Given the description of an element on the screen output the (x, y) to click on. 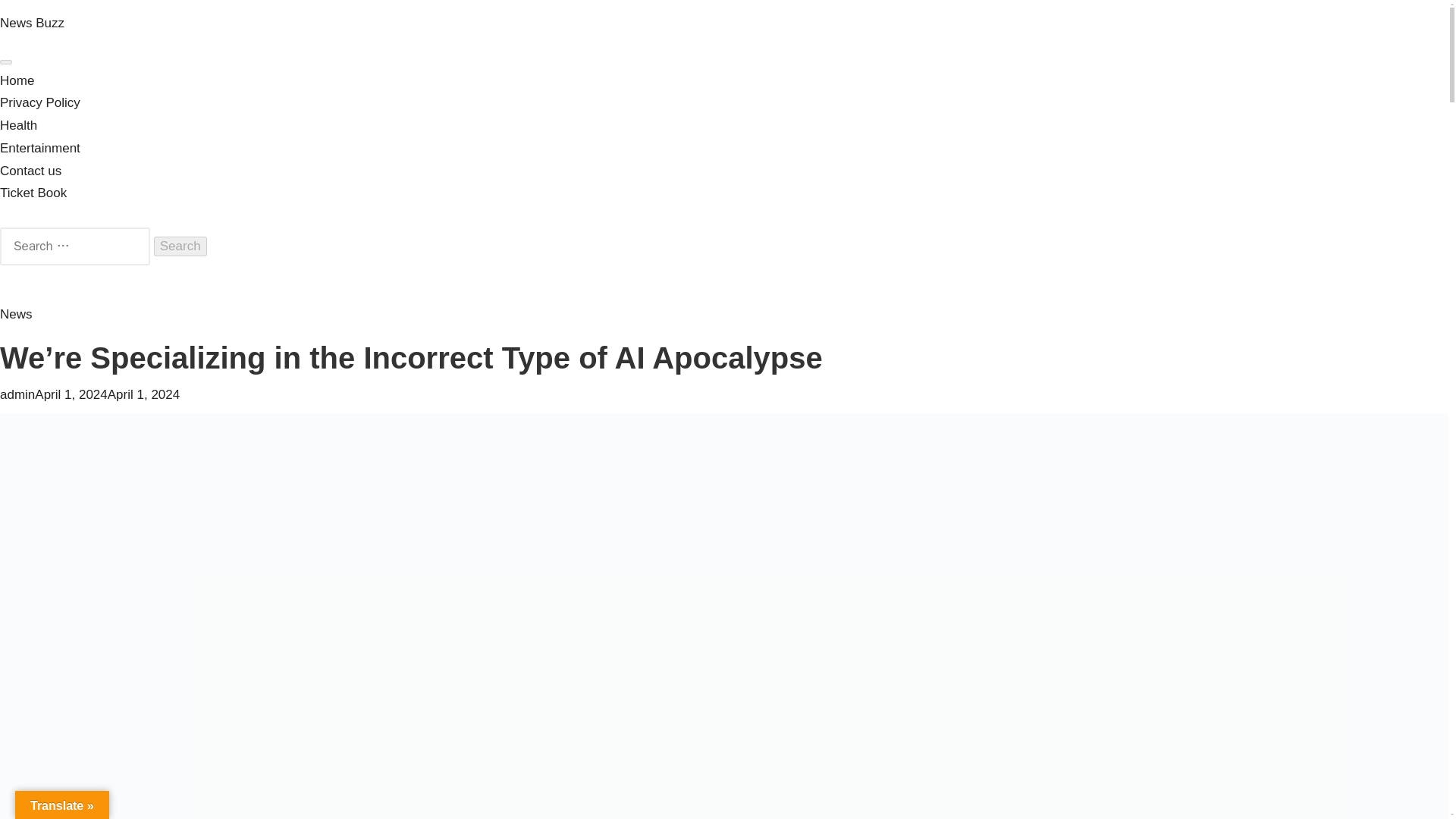
Search (180, 246)
Contact us (30, 170)
Health (18, 124)
News Buzz (32, 22)
Ticket Book (33, 192)
admin (17, 393)
Entertainment (40, 147)
Privacy Policy (40, 102)
News (16, 314)
April 1, 2024April 1, 2024 (106, 393)
